Given the description of an element on the screen output the (x, y) to click on. 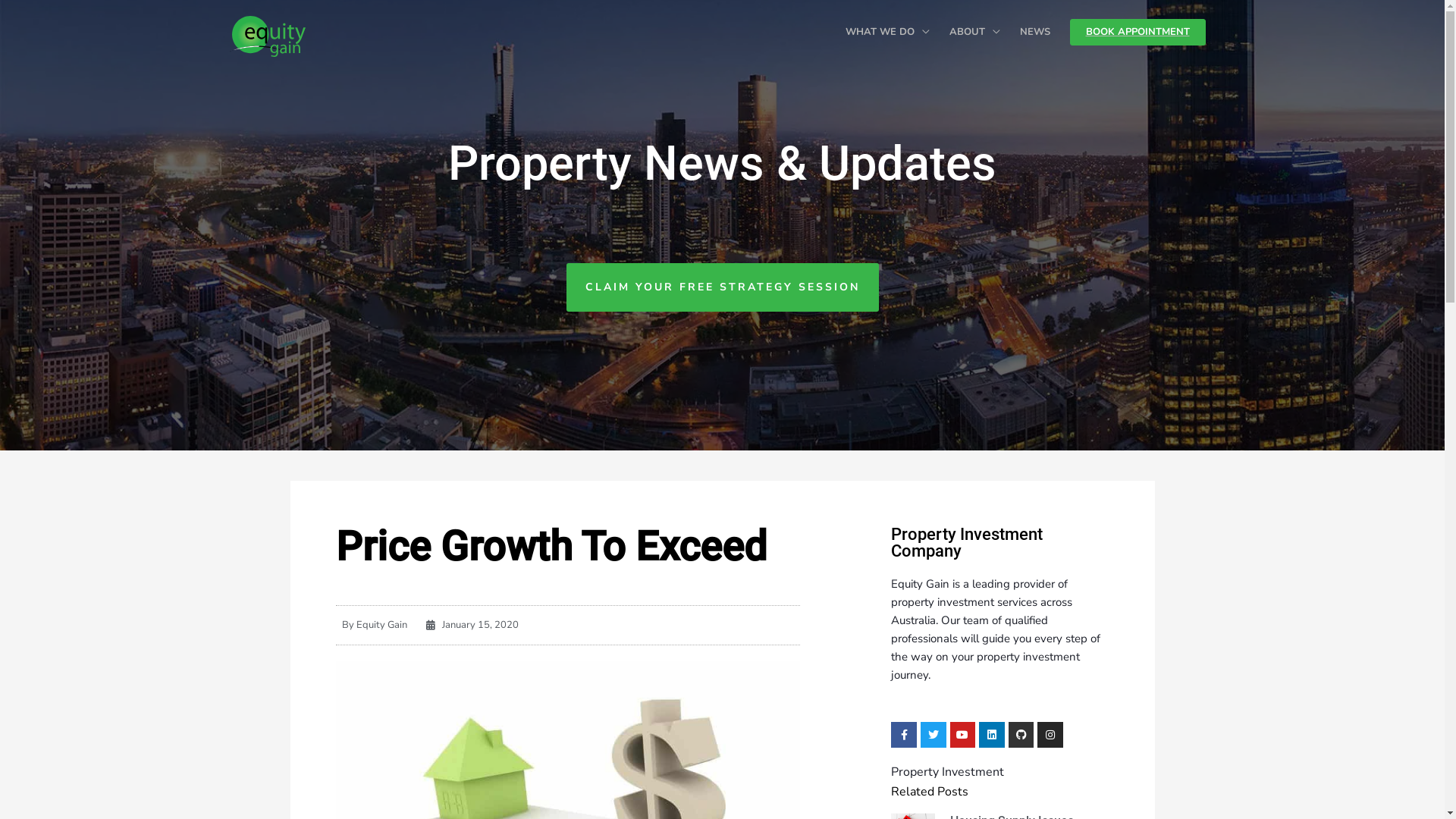
January 15, 2020 Element type: text (472, 625)
CLAIM YOUR FREE STRATEGY SESSION Element type: text (721, 286)
WHAT WE DO Element type: text (887, 31)
Property Investment Element type: text (947, 771)
NEWS Element type: text (1035, 31)
By Equity Gain Element type: text (370, 625)
BOOK APPOINTMENT Element type: text (1136, 31)
ABOUT Element type: text (973, 31)
